Given the description of an element on the screen output the (x, y) to click on. 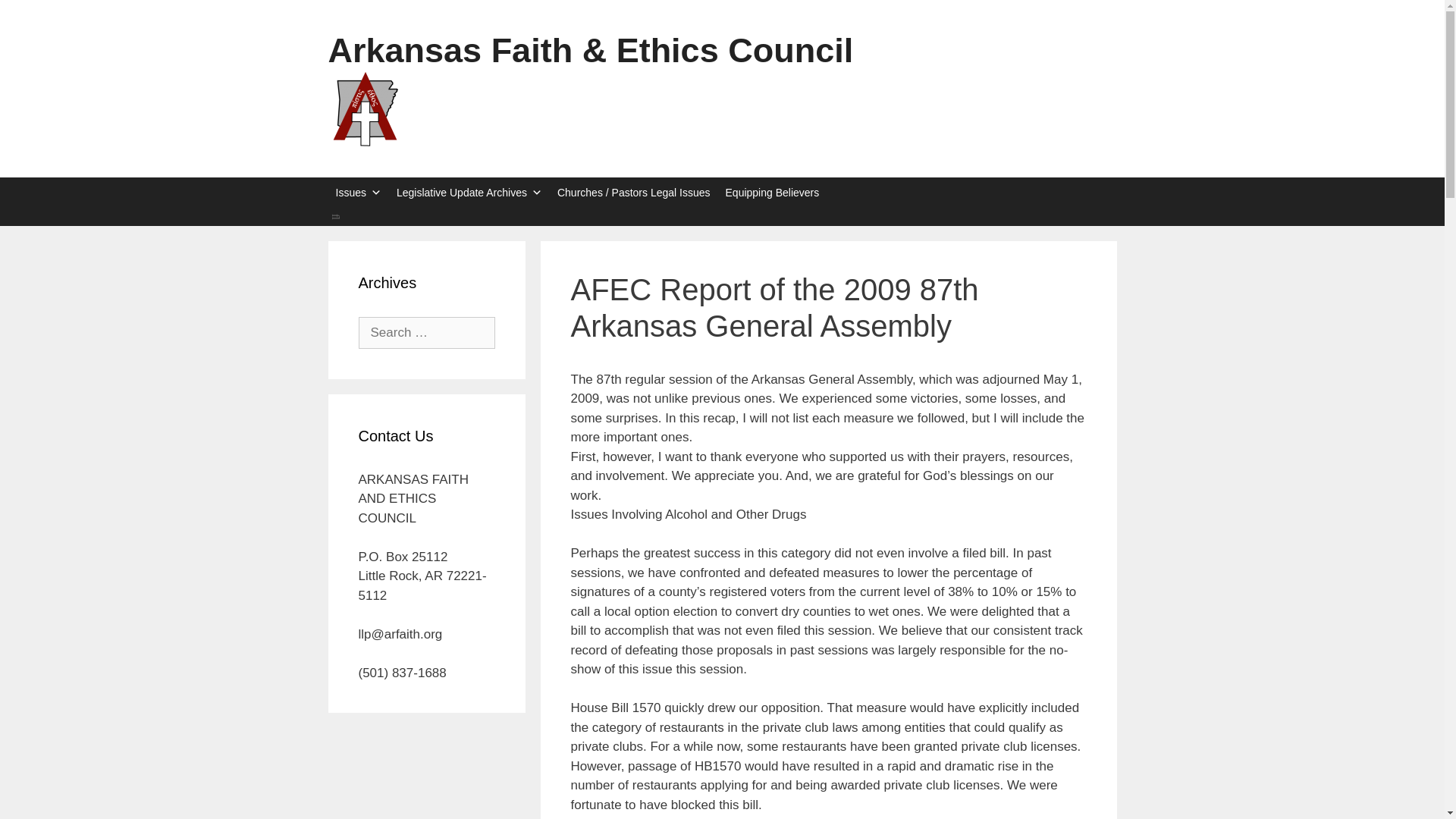
Issues (357, 192)
Search for: (426, 332)
Search (721, 217)
